Given the description of an element on the screen output the (x, y) to click on. 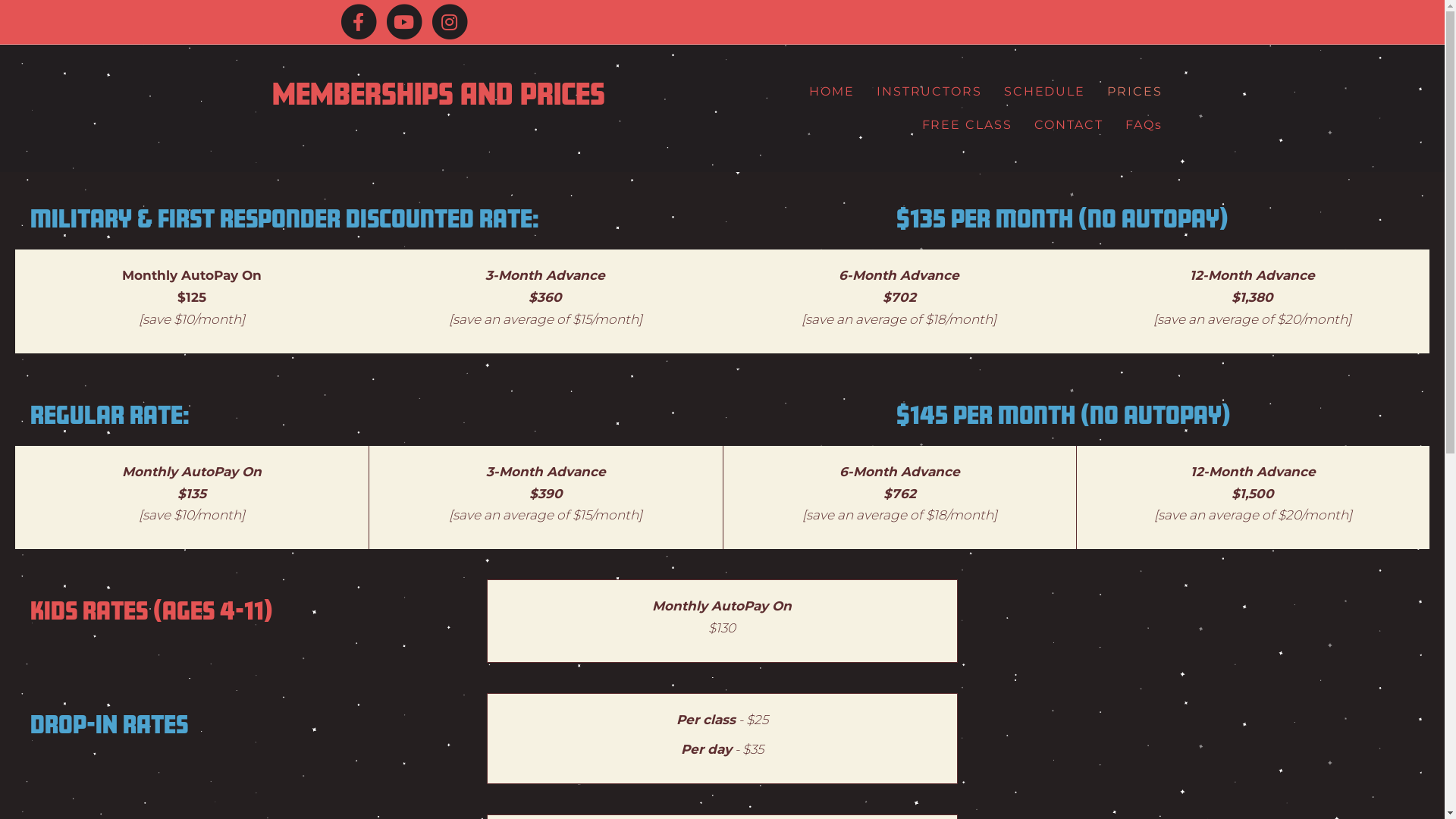
Instagram Element type: text (448, 21)
PRICES Element type: text (1134, 91)
INSTRUCTORS Element type: text (929, 91)
Facebook Element type: text (357, 21)
CONTACT Element type: text (1068, 124)
FAQs Element type: text (1143, 124)
Youtube Element type: text (403, 21)
SCHEDULE Element type: text (1044, 91)
HOME Element type: text (831, 91)
FREE CLASS Element type: text (966, 124)
